Given the description of an element on the screen output the (x, y) to click on. 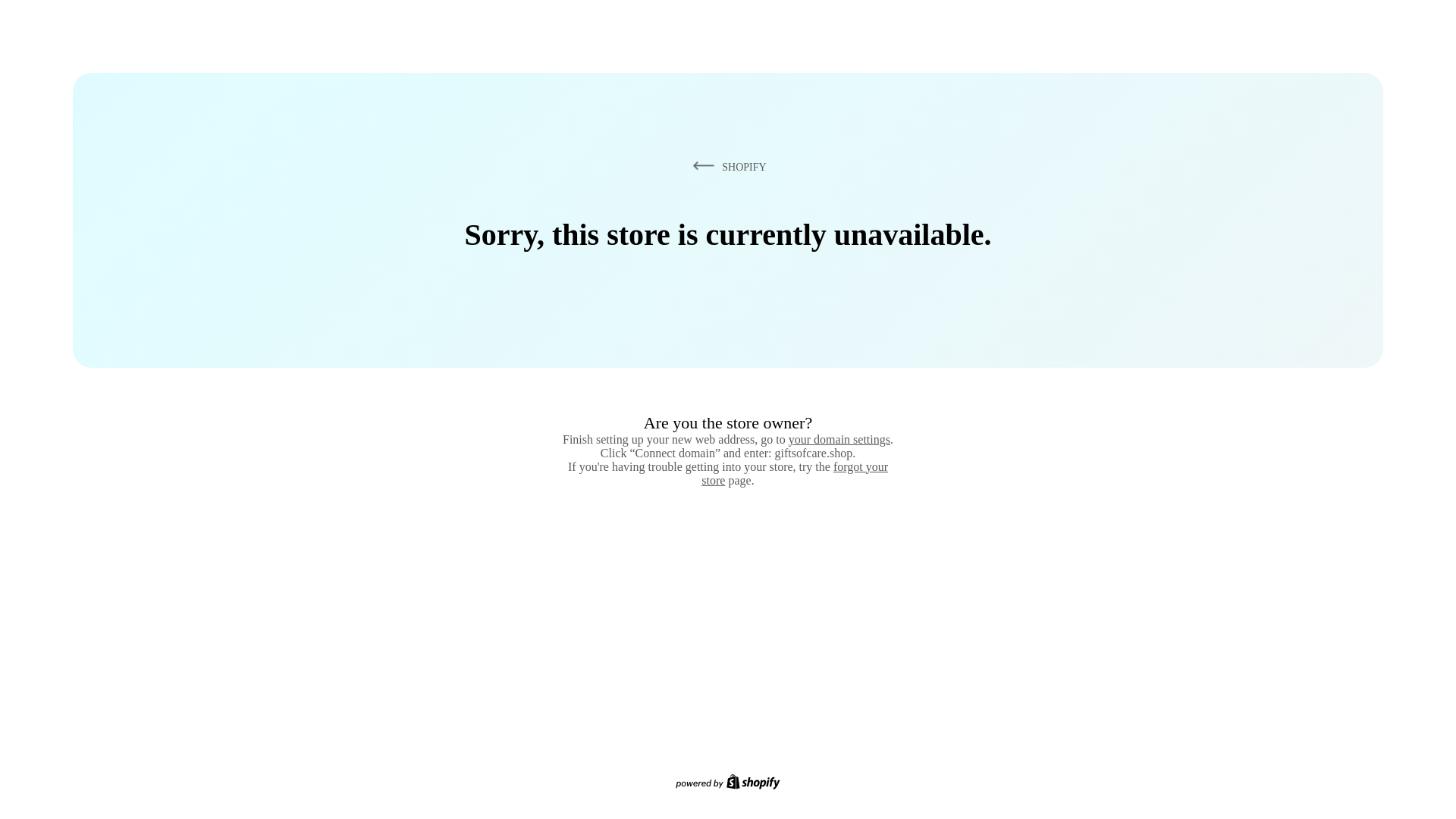
SHOPIFY (726, 166)
forgot your store (794, 473)
your domain settings (839, 439)
